Given the description of an element on the screen output the (x, y) to click on. 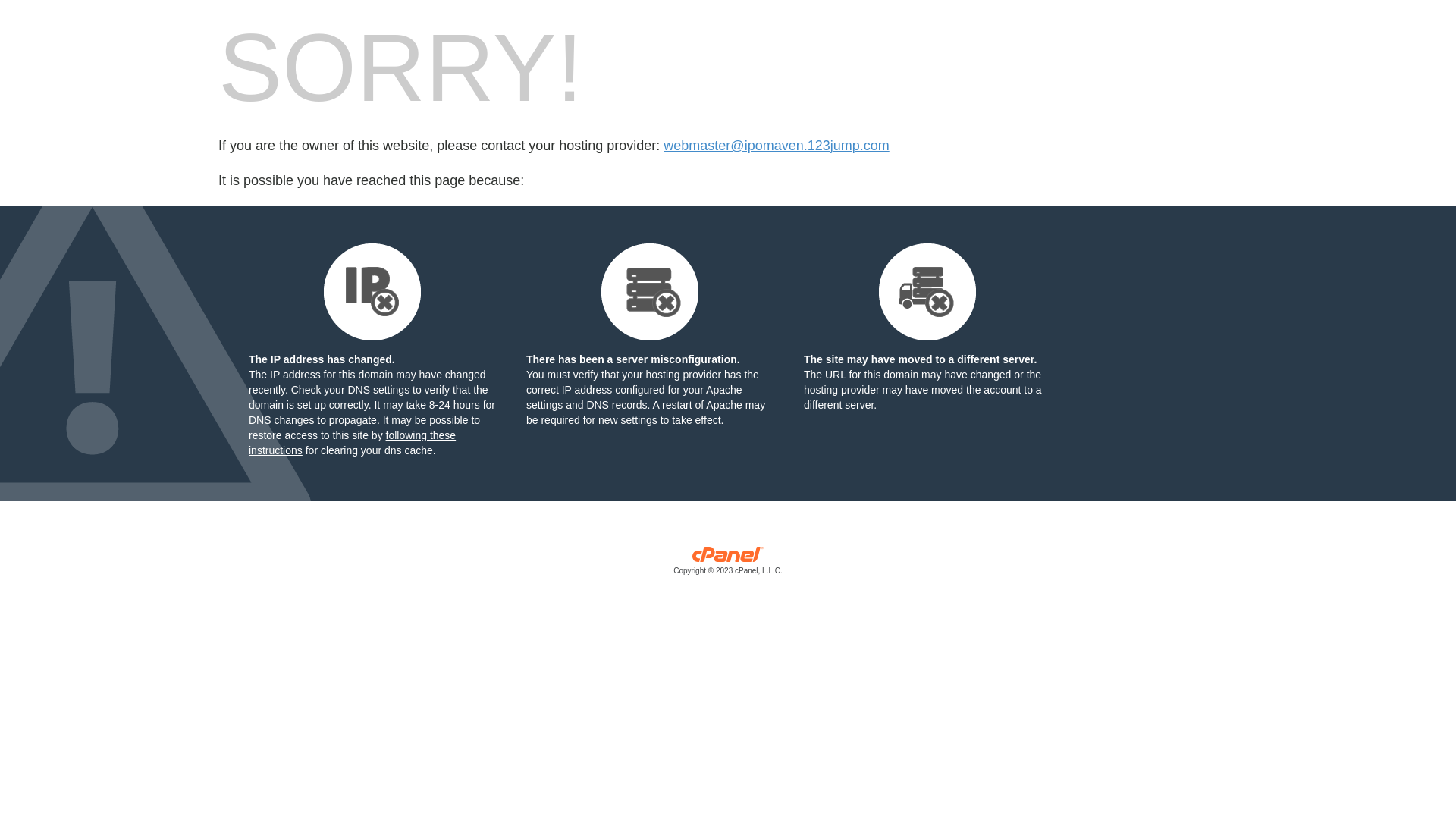
webmaster@ipomaven.123jump.com Element type: text (775, 145)
following these instructions Element type: text (351, 442)
